Given the description of an element on the screen output the (x, y) to click on. 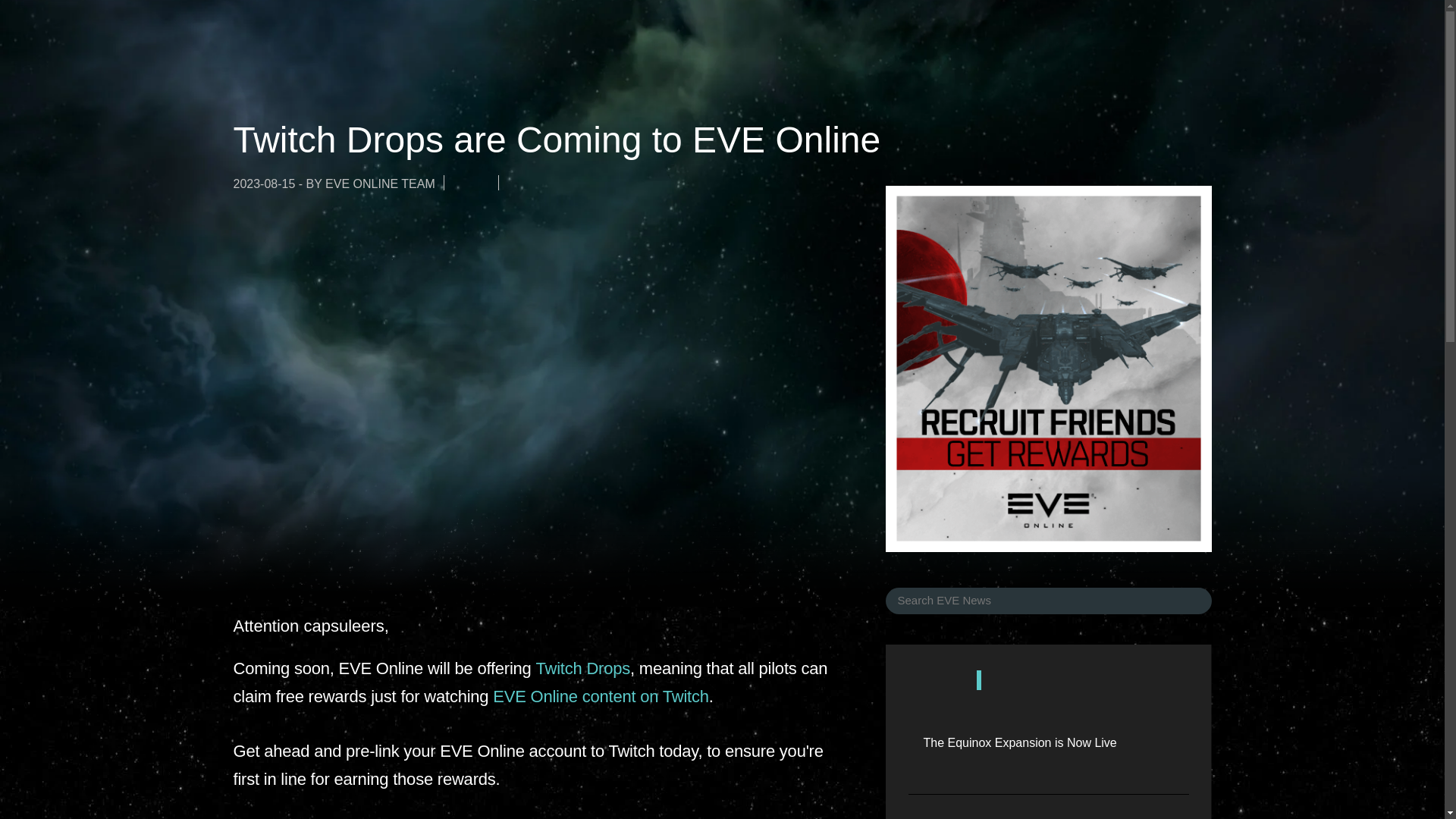
The Equinox Expansion is Now Live (1019, 742)
